Given the description of an element on the screen output the (x, y) to click on. 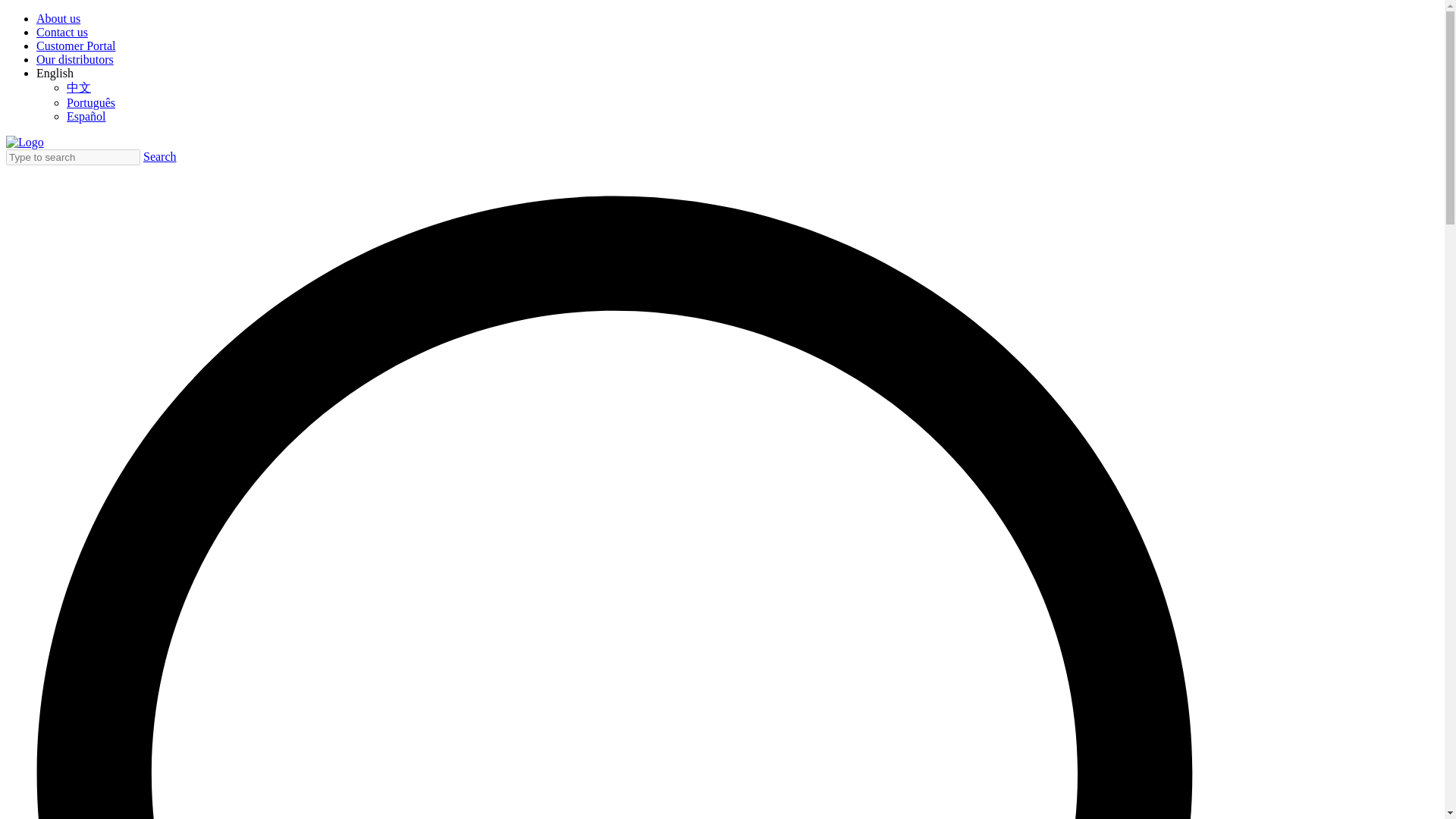
English (55, 72)
Contact us (61, 31)
Customer Portal (75, 45)
Customer Portal (75, 45)
About us (58, 18)
About us (58, 18)
Contact us (61, 31)
Our distributors (74, 59)
Logo (24, 142)
Our distributors (74, 59)
